Given the description of an element on the screen output the (x, y) to click on. 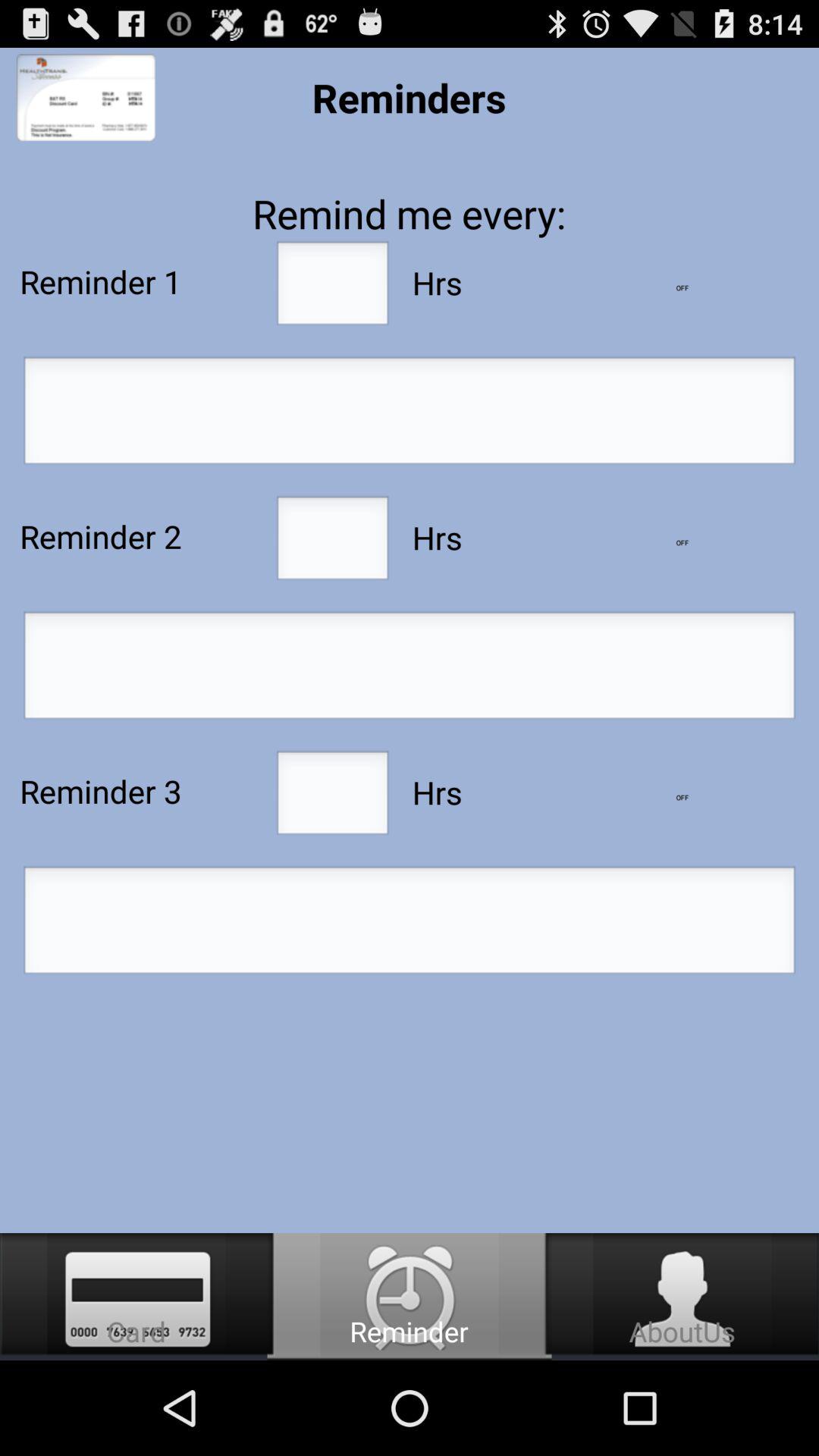
subtract number (682, 287)
